Given the description of an element on the screen output the (x, y) to click on. 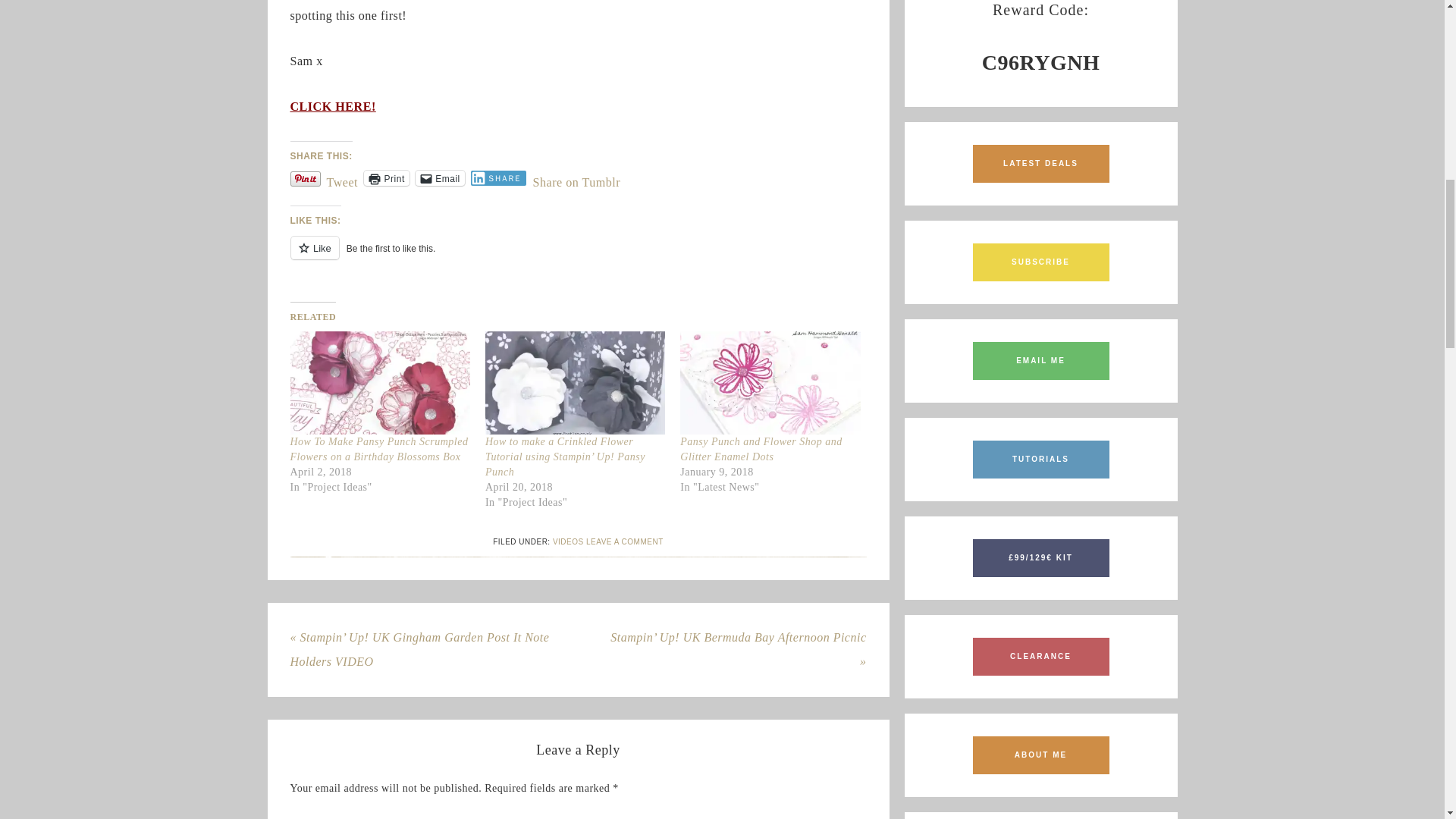
Pansy Punch and Flower Shop and Glitter Enamel Dots (760, 448)
Tweet (342, 177)
Email (439, 177)
Click to print (386, 177)
Share on Tumblr (576, 177)
SHARE (498, 177)
Like or Reblog (577, 255)
CLICK HERE! (332, 106)
LEAVE A COMMENT (624, 541)
Click to email a link to a friend (439, 177)
VIDEOS (568, 541)
Pansy Punch and Flower Shop and Glitter Enamel Dots (760, 448)
Share on Tumblr (576, 177)
Print (386, 177)
